Given the description of an element on the screen output the (x, y) to click on. 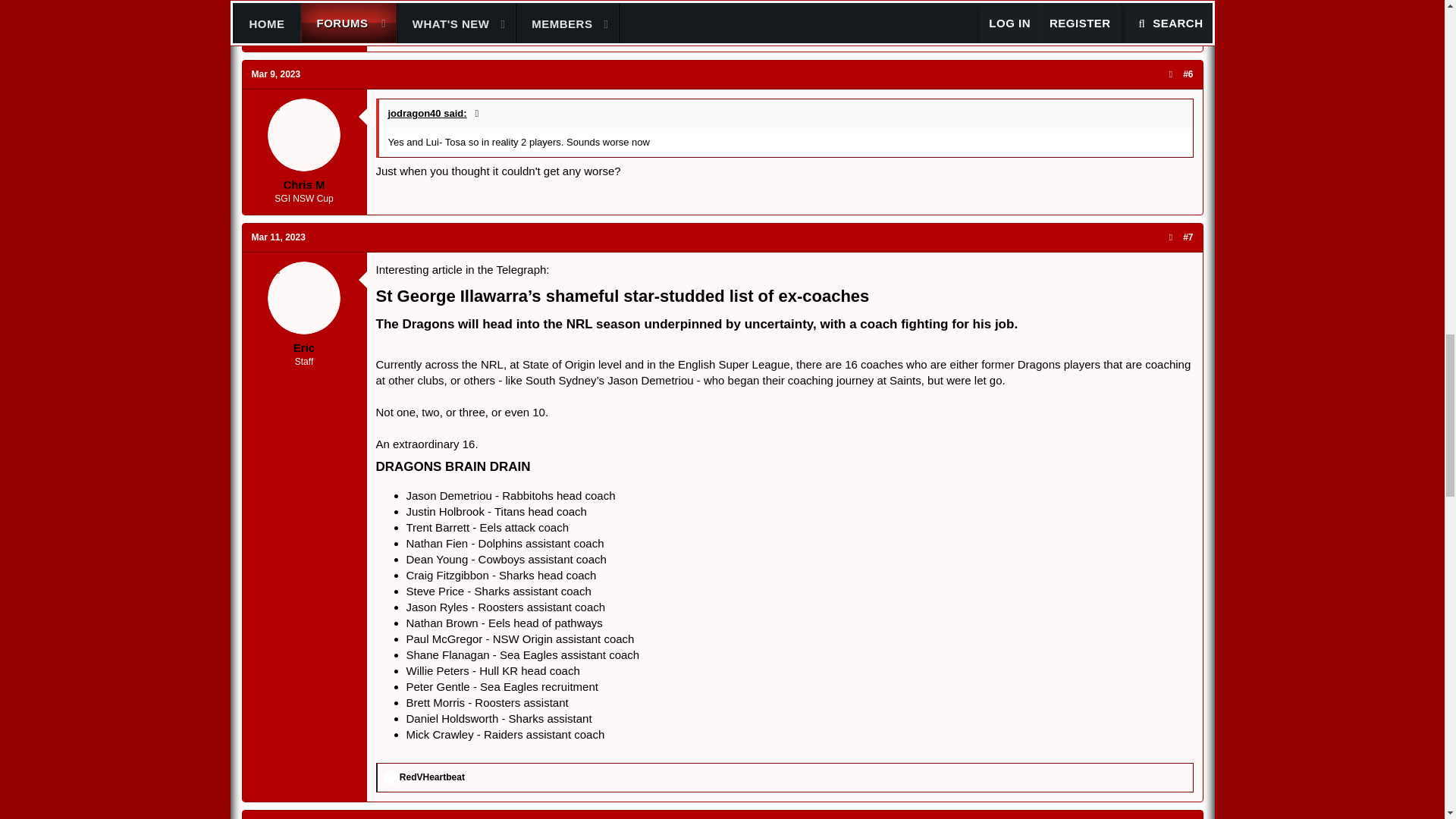
Like (391, 777)
Mar 9, 2023 at 10:48 AM (276, 73)
Mar 11, 2023 at 3:35 PM (278, 236)
